Given the description of an element on the screen output the (x, y) to click on. 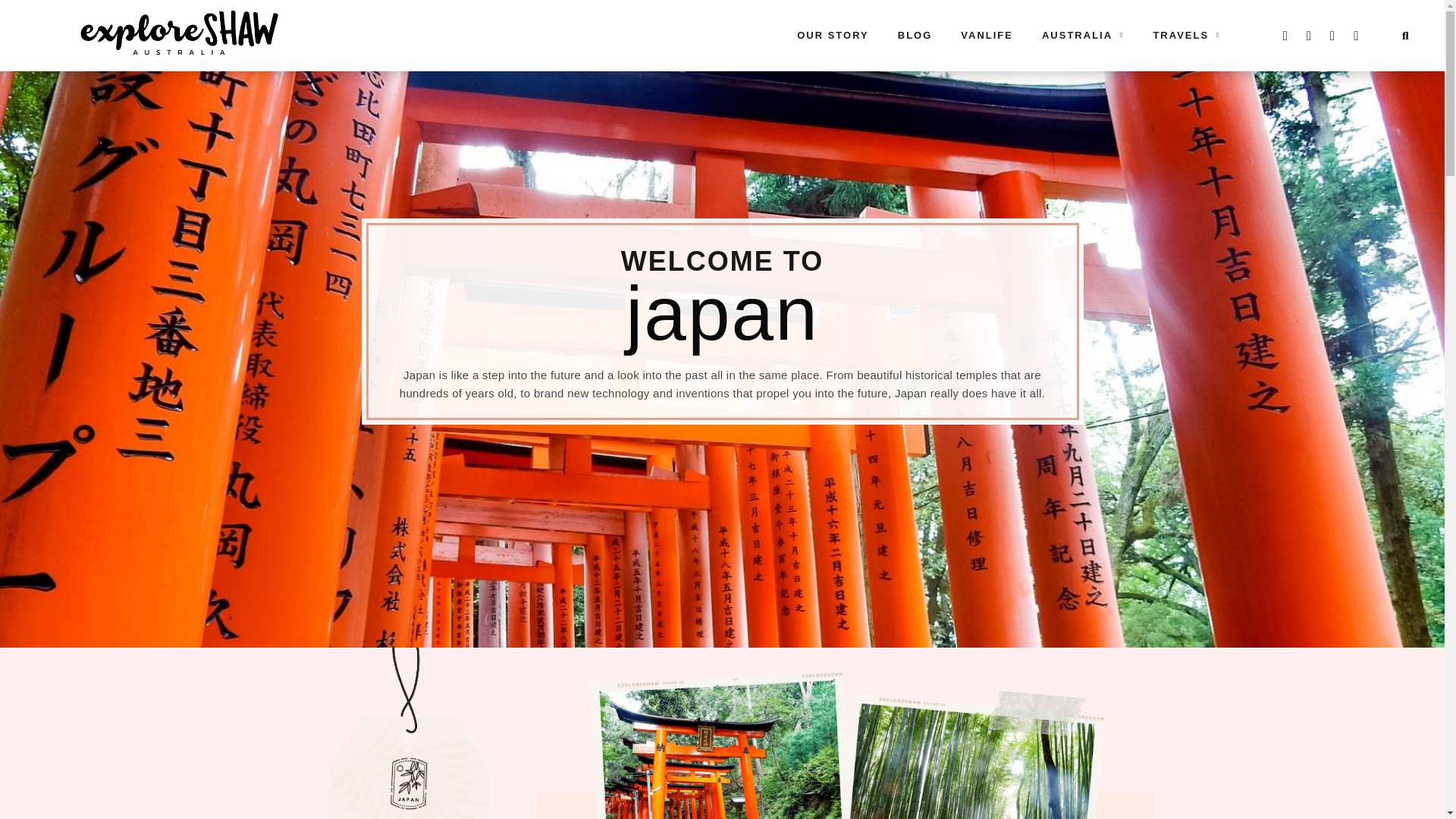
TRAVELS (1186, 35)
OUR STORY (833, 35)
AUSTRALIA (1082, 35)
BLOG (915, 35)
VANLIFE (986, 35)
